Given the description of an element on the screen output the (x, y) to click on. 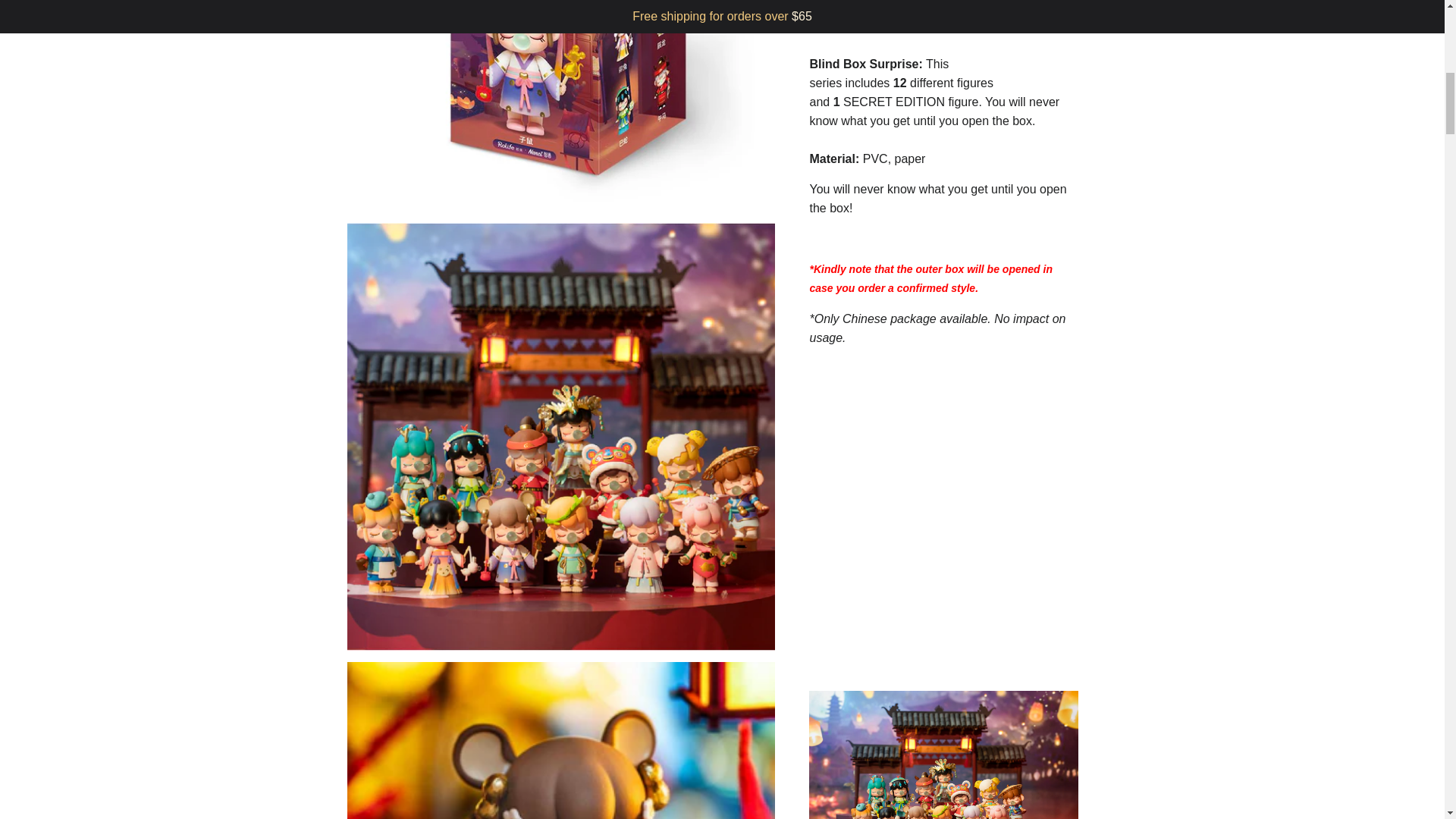
YouTube video player (943, 516)
